Given the description of an element on the screen output the (x, y) to click on. 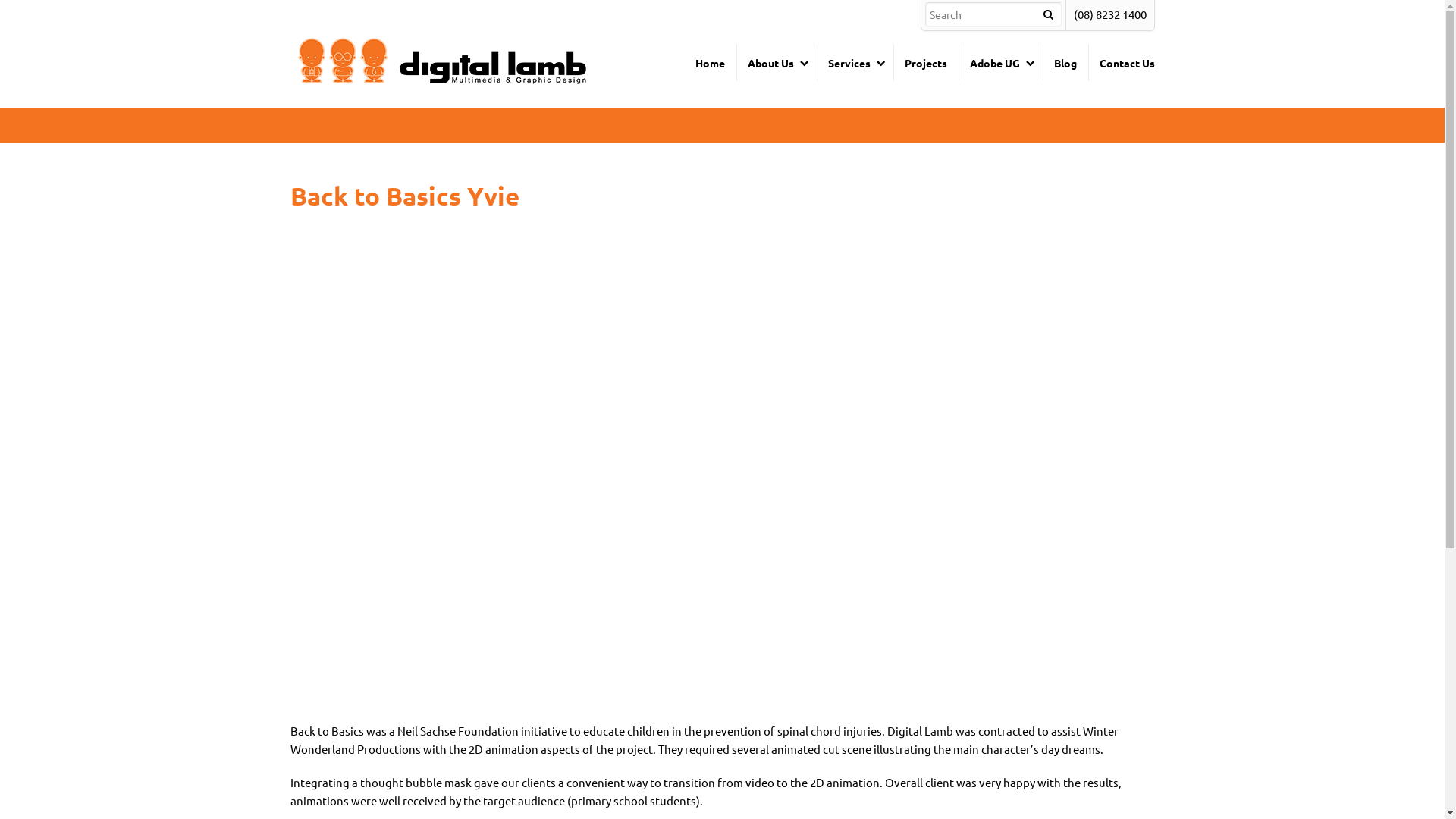
Home Element type: text (710, 62)
About Us Element type: text (775, 62)
Adobe UG Element type: text (1000, 62)
Blog Element type: text (1064, 62)
Projects Element type: text (925, 62)
Services Element type: text (853, 62)
Contact Us Element type: text (1120, 62)
